Given the description of an element on the screen output the (x, y) to click on. 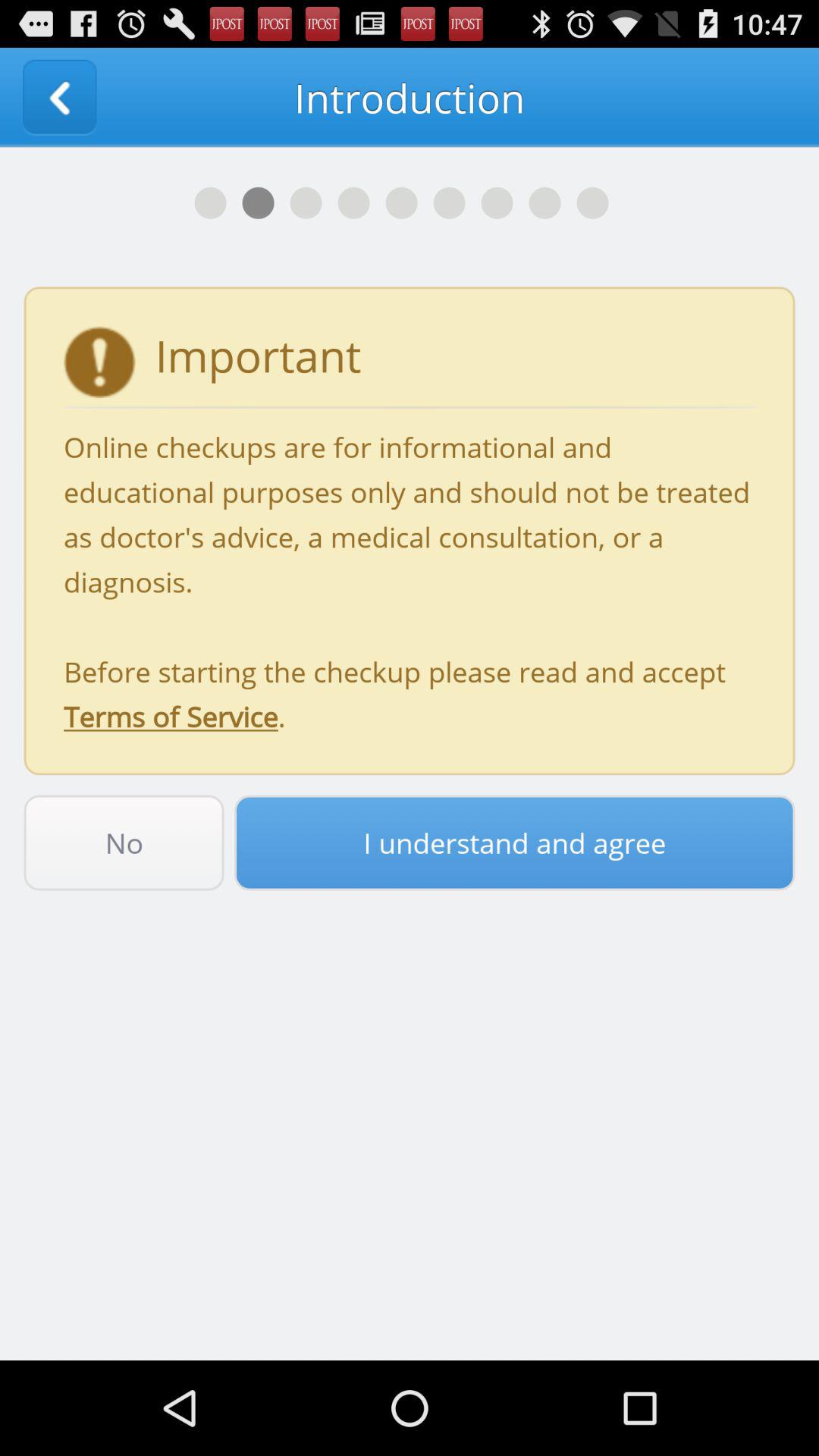
scroll until the i understand and item (514, 842)
